Given the description of an element on the screen output the (x, y) to click on. 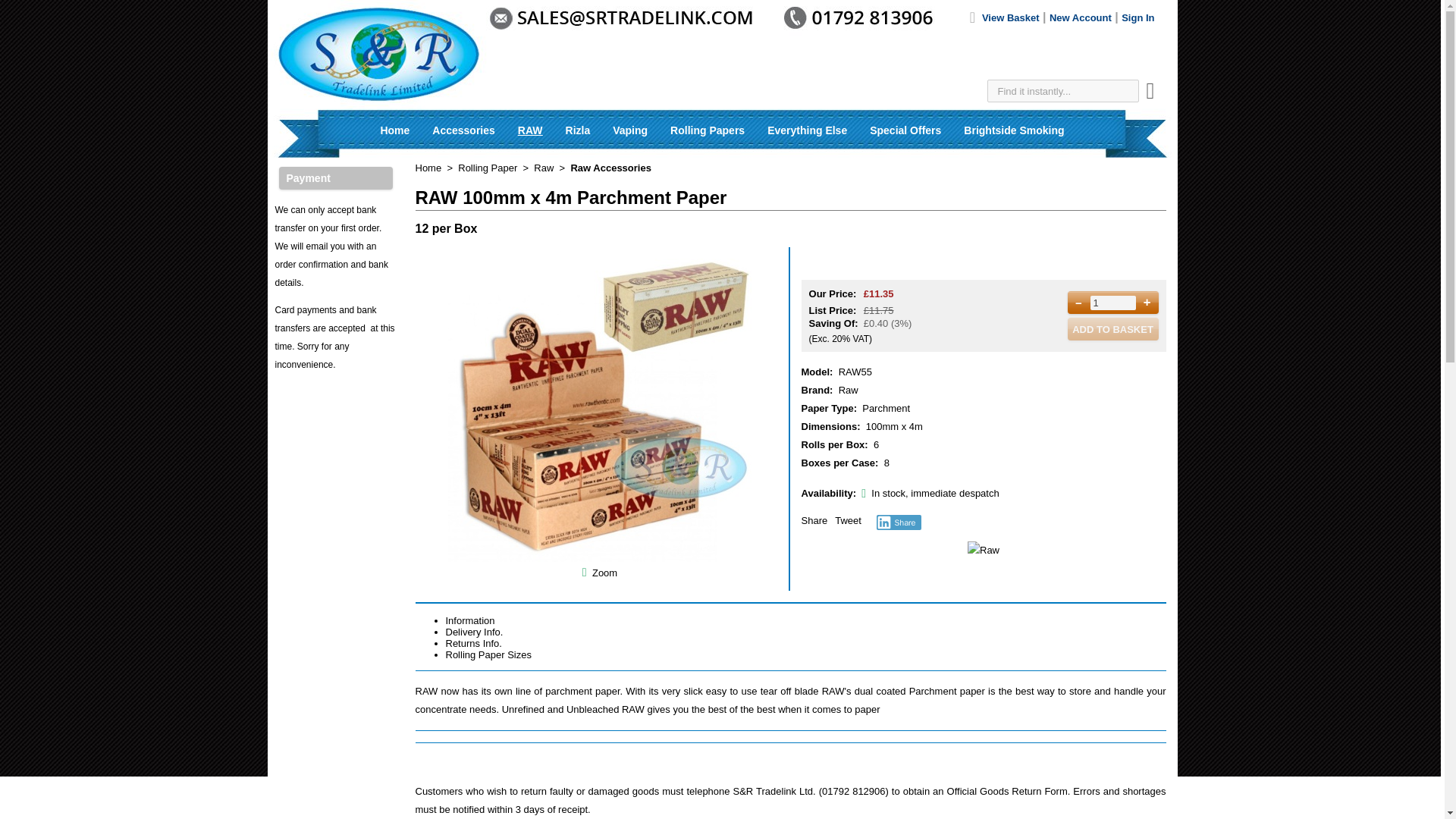
Raw Accessories (610, 167)
In stock, immediate despatch (863, 493)
Share (815, 520)
Home (394, 130)
RAW 100mm x 4m Parchment Paper (599, 558)
Go (1150, 94)
Rolling Paper (487, 167)
RAW 100mm x 4m Parchment Paper (584, 572)
Zoom (599, 409)
RAW 100mm x 4m Parchment Paper (604, 572)
Returns Info. (473, 643)
Rolling Paper Sizes (488, 654)
Share (898, 522)
Information (470, 620)
ADD TO BASKET (1112, 328)
